Given the description of an element on the screen output the (x, y) to click on. 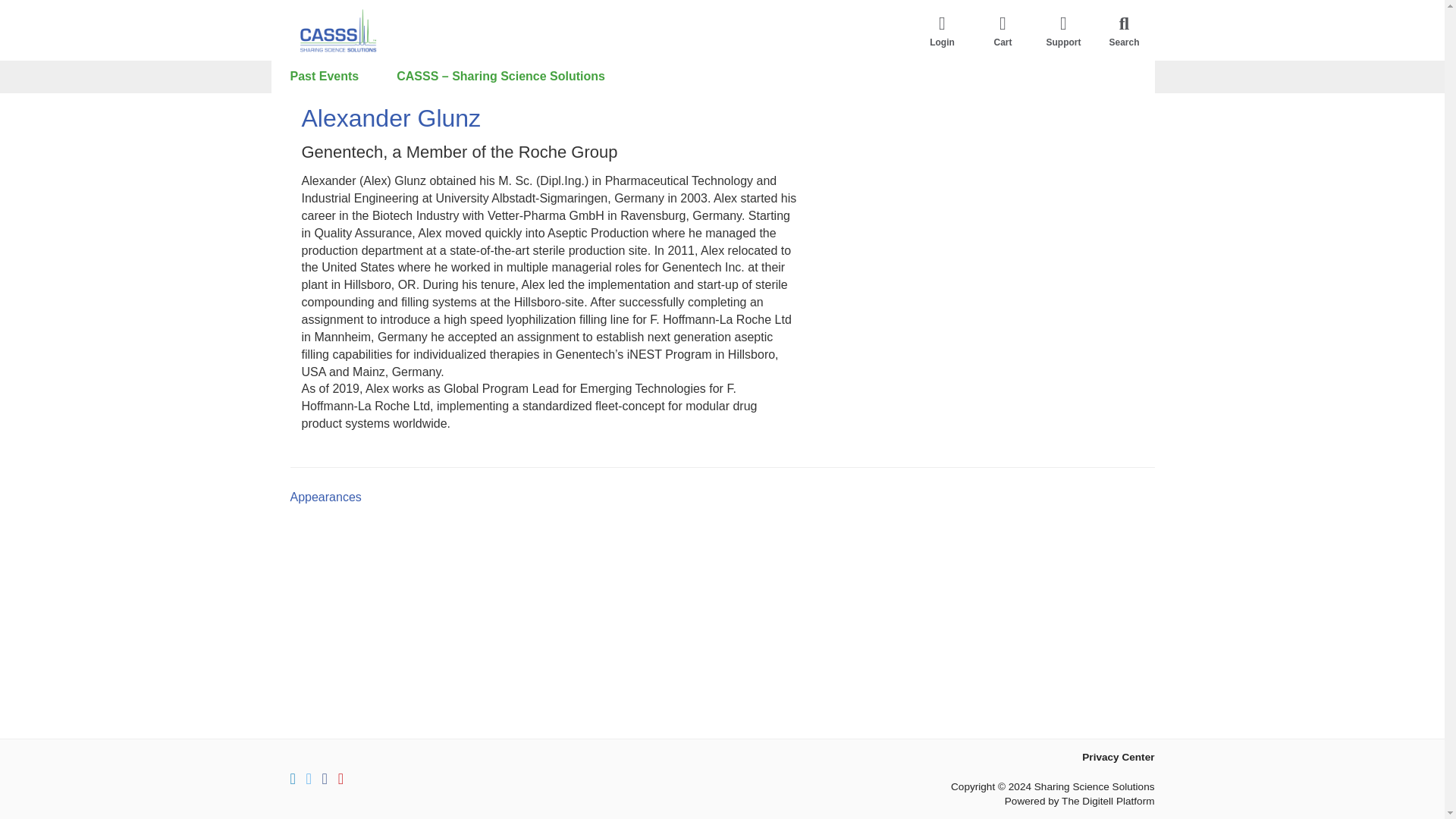
Cart (1002, 30)
Search (1123, 30)
Past Events (324, 76)
Login (941, 30)
Support (1062, 30)
Cart (1002, 30)
Privacy Center (1117, 756)
Login (941, 30)
Support (1062, 30)
Search (1123, 30)
